Given the description of an element on the screen output the (x, y) to click on. 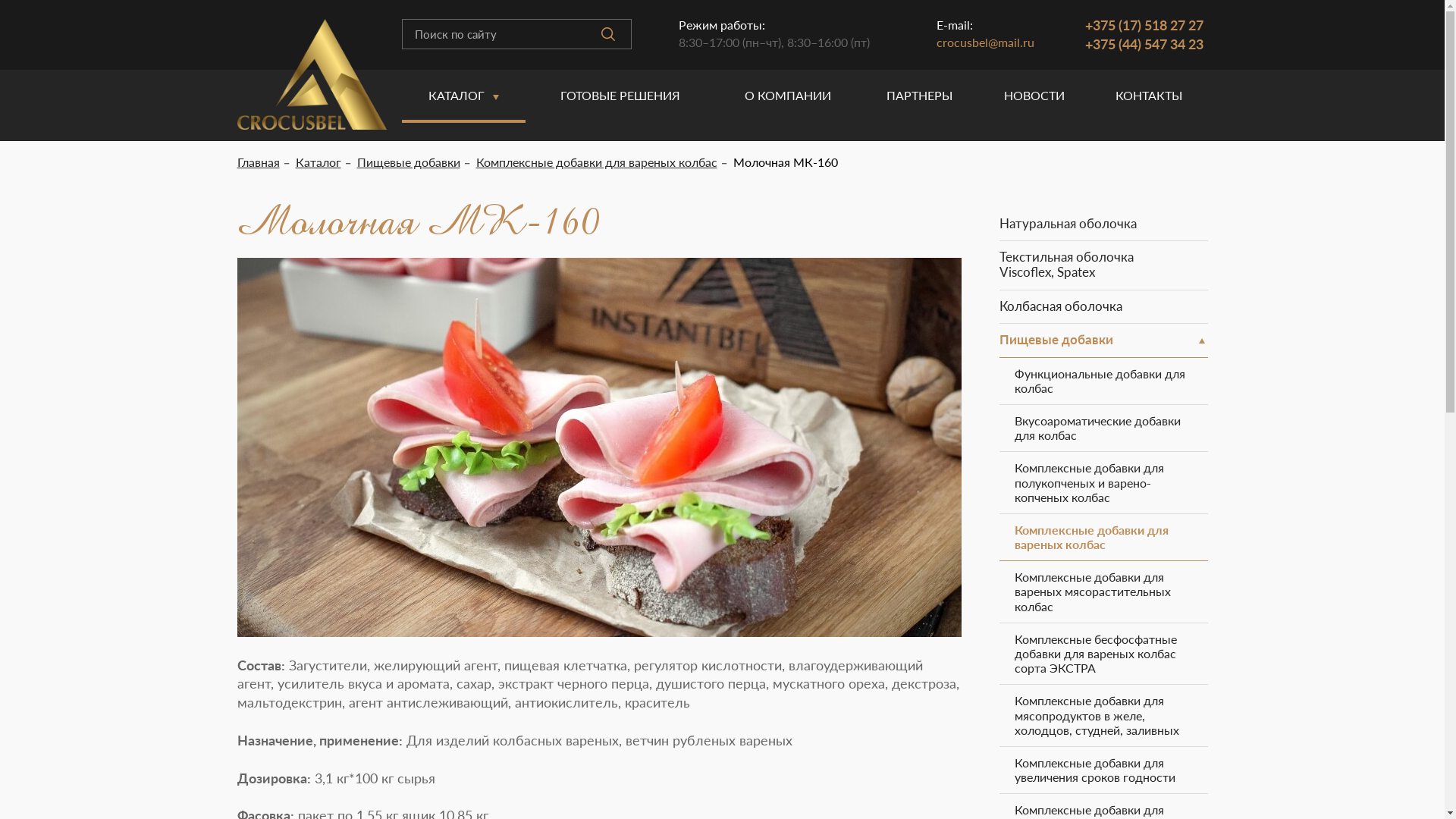
crocusbel@mail.ru Element type: text (985, 41)
+375 (44) 547 34 23 Element type: text (1144, 43)
+375 (17) 518 27 27 Element type: text (1144, 24)
